Given the description of an element on the screen output the (x, y) to click on. 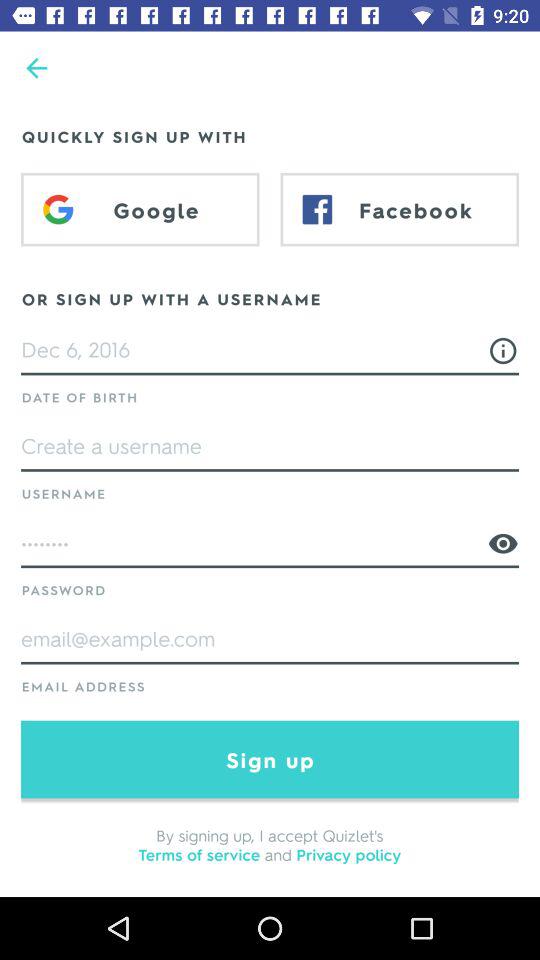
click by signing up item (269, 844)
